Given the description of an element on the screen output the (x, y) to click on. 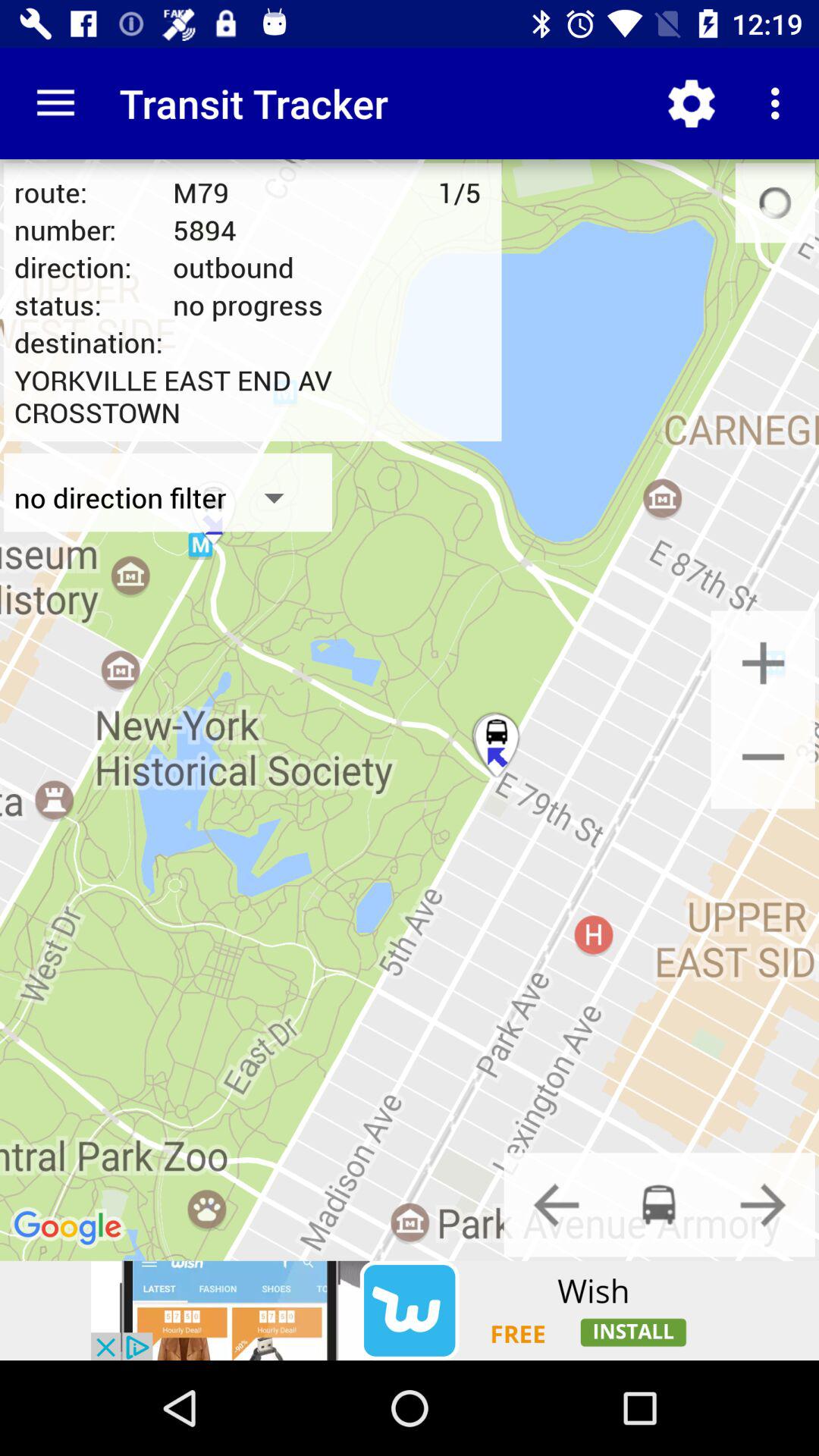
previous (555, 1204)
